Given the description of an element on the screen output the (x, y) to click on. 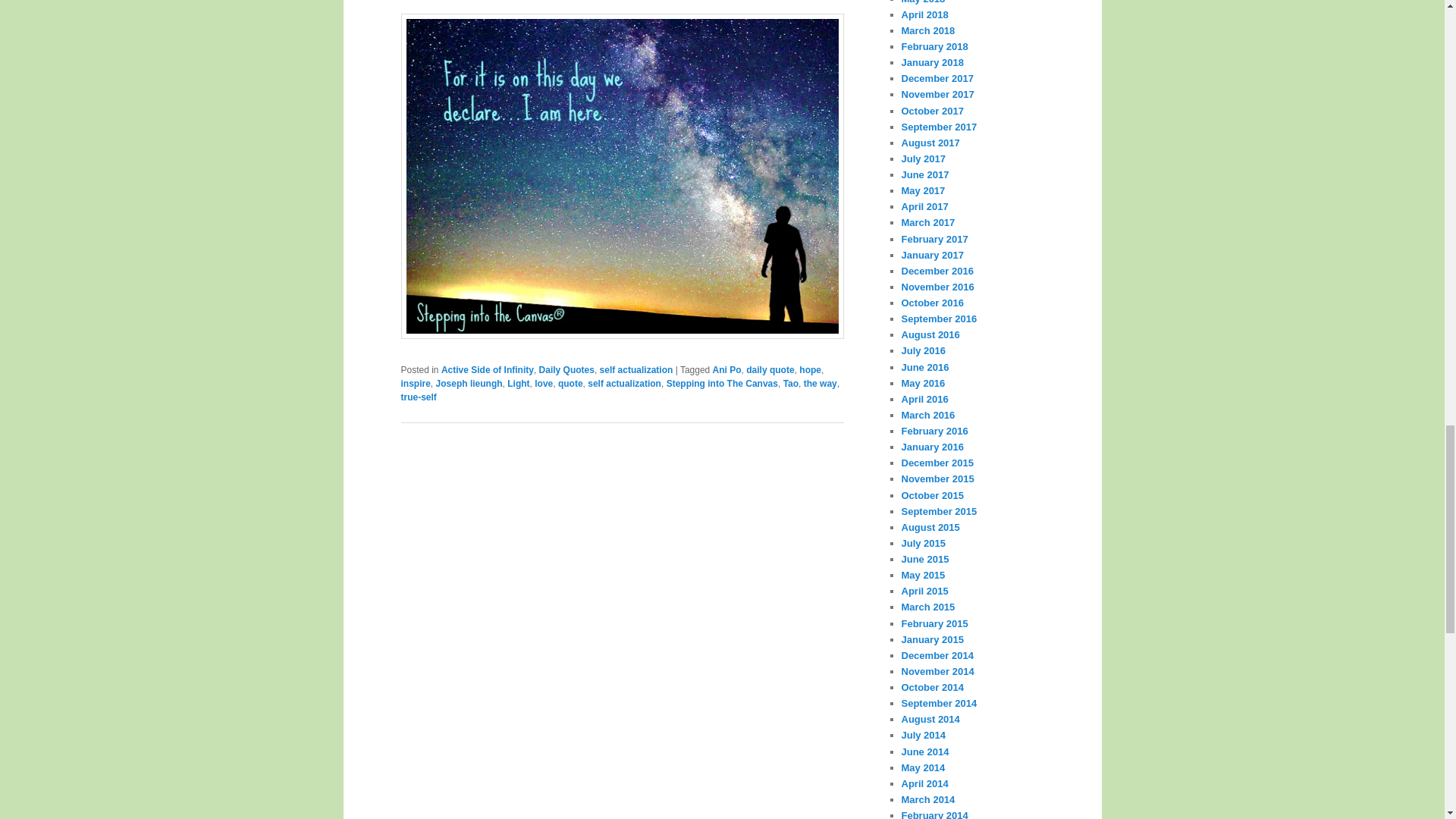
self actualization (635, 369)
Daily Quotes (566, 369)
Active Side of Infinity (487, 369)
